Given the description of an element on the screen output the (x, y) to click on. 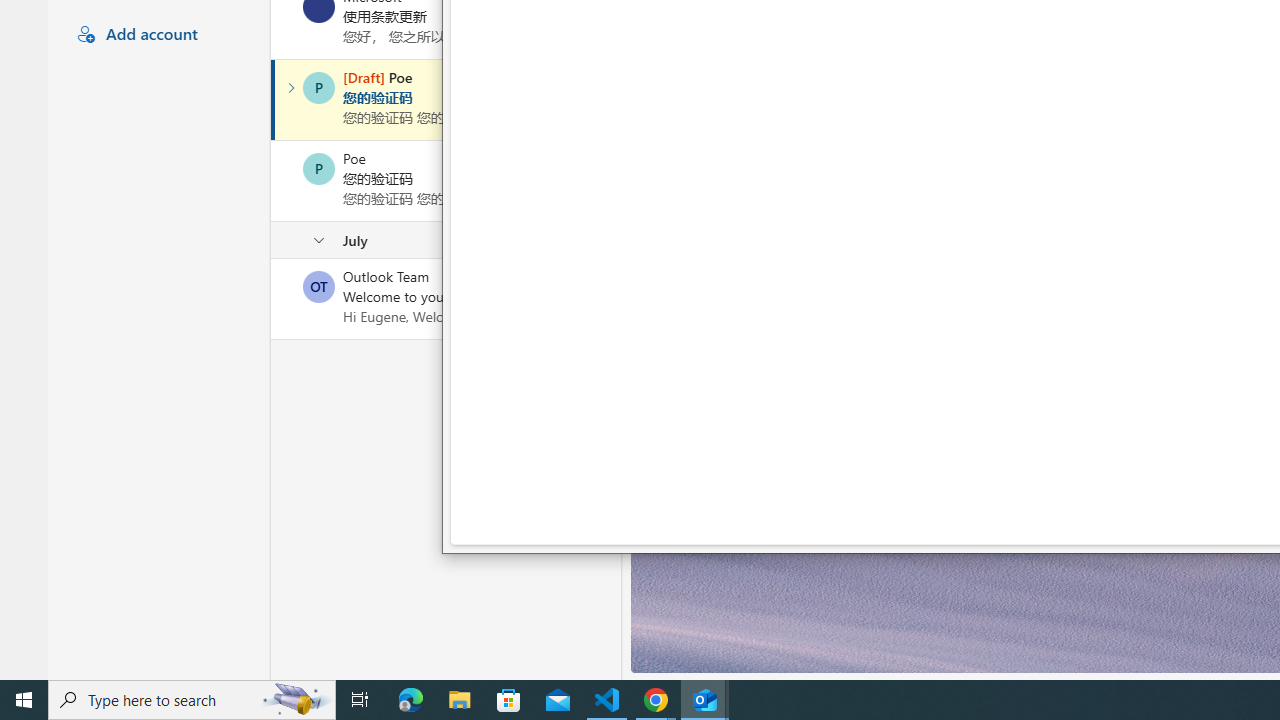
Expand conversation (291, 88)
